Given the description of an element on the screen output the (x, y) to click on. 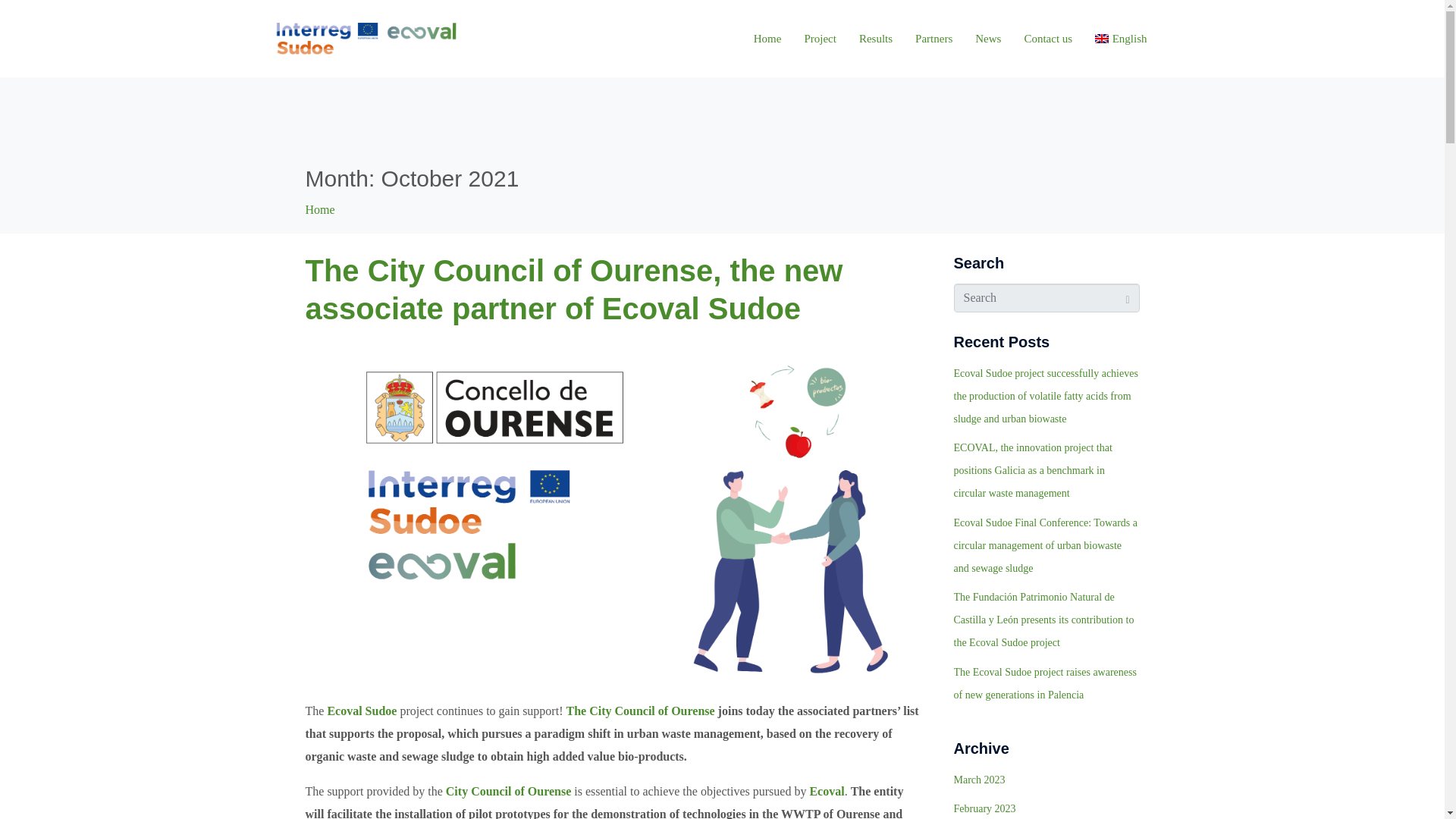
English (1120, 38)
Results (875, 38)
Project (819, 38)
Home (767, 38)
English (1120, 38)
News (988, 38)
Contact us (1047, 38)
Partners (933, 38)
